Given the description of an element on the screen output the (x, y) to click on. 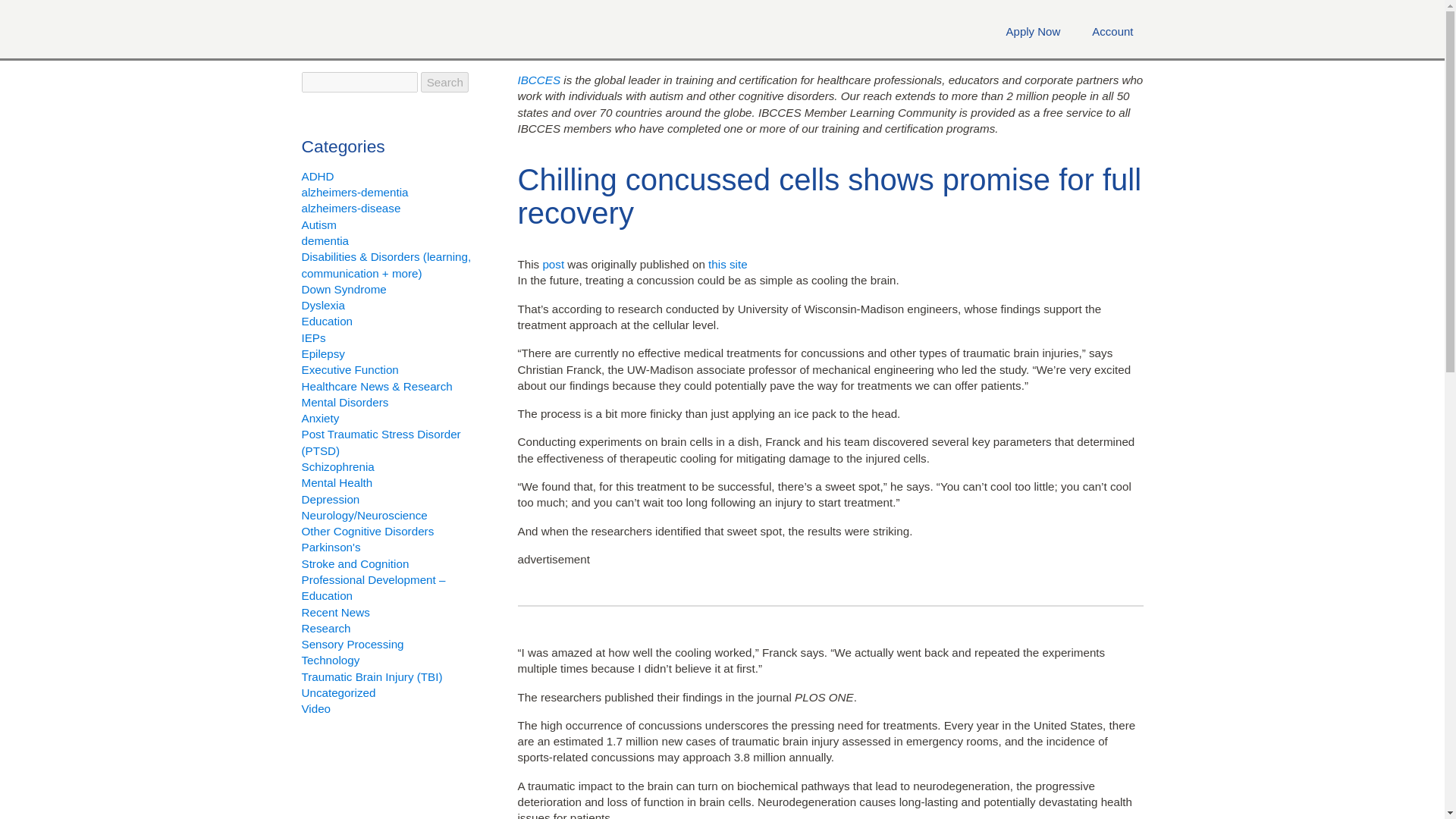
Executive Function (349, 369)
Recent News (335, 611)
post (552, 264)
alzheimers-dementia (355, 192)
Apply Now (1032, 31)
Video (316, 707)
Dyslexia (323, 305)
Parkinson's (331, 546)
Account (1112, 31)
IBCCES Learning Community (427, 30)
